Given the description of an element on the screen output the (x, y) to click on. 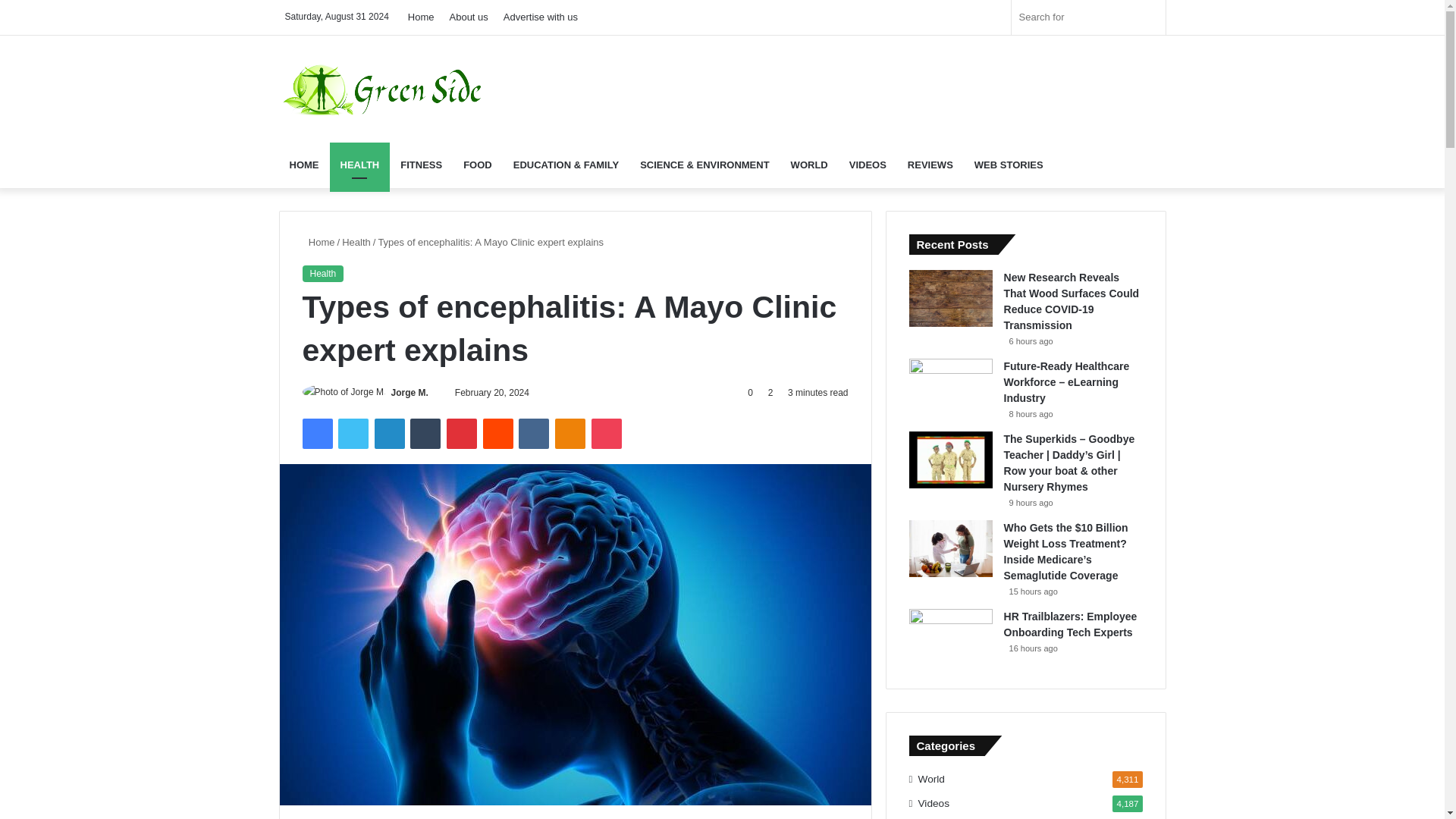
Tumblr (425, 433)
LinkedIn (389, 433)
Jorge M. (409, 392)
Home (317, 242)
VKontakte (533, 433)
FITNESS (421, 165)
Health (356, 242)
Facebook (316, 433)
HEALTH (359, 165)
Search for (1088, 17)
